Given the description of an element on the screen output the (x, y) to click on. 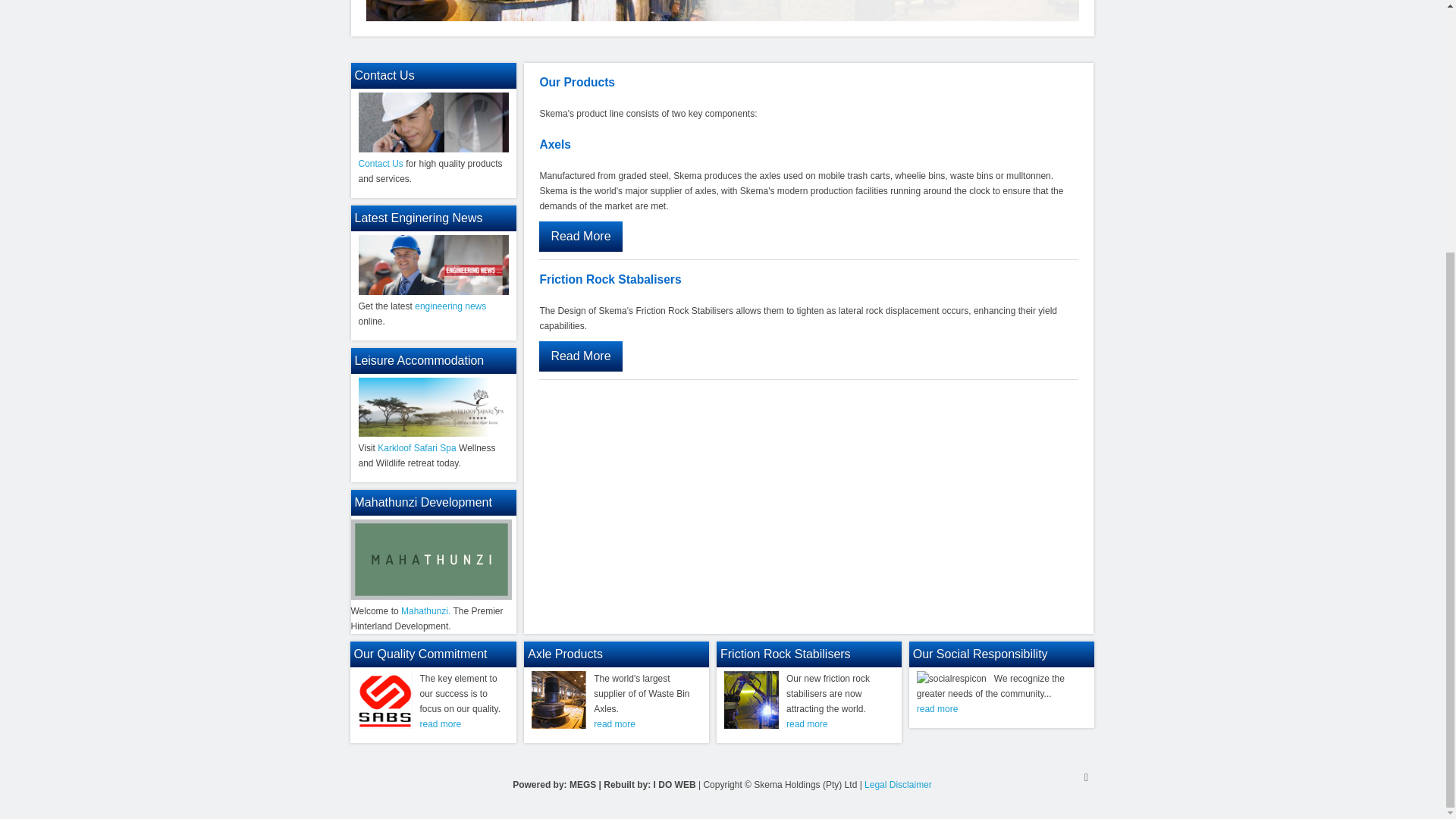
Contact Us (380, 163)
Legal Disclaimer (897, 784)
engineering news (450, 306)
Read More (579, 236)
read more (807, 724)
read more (440, 724)
read more (937, 708)
Karkloof Safari Spa (416, 448)
Mahathunzi. (425, 611)
read more (614, 724)
